Given the description of an element on the screen output the (x, y) to click on. 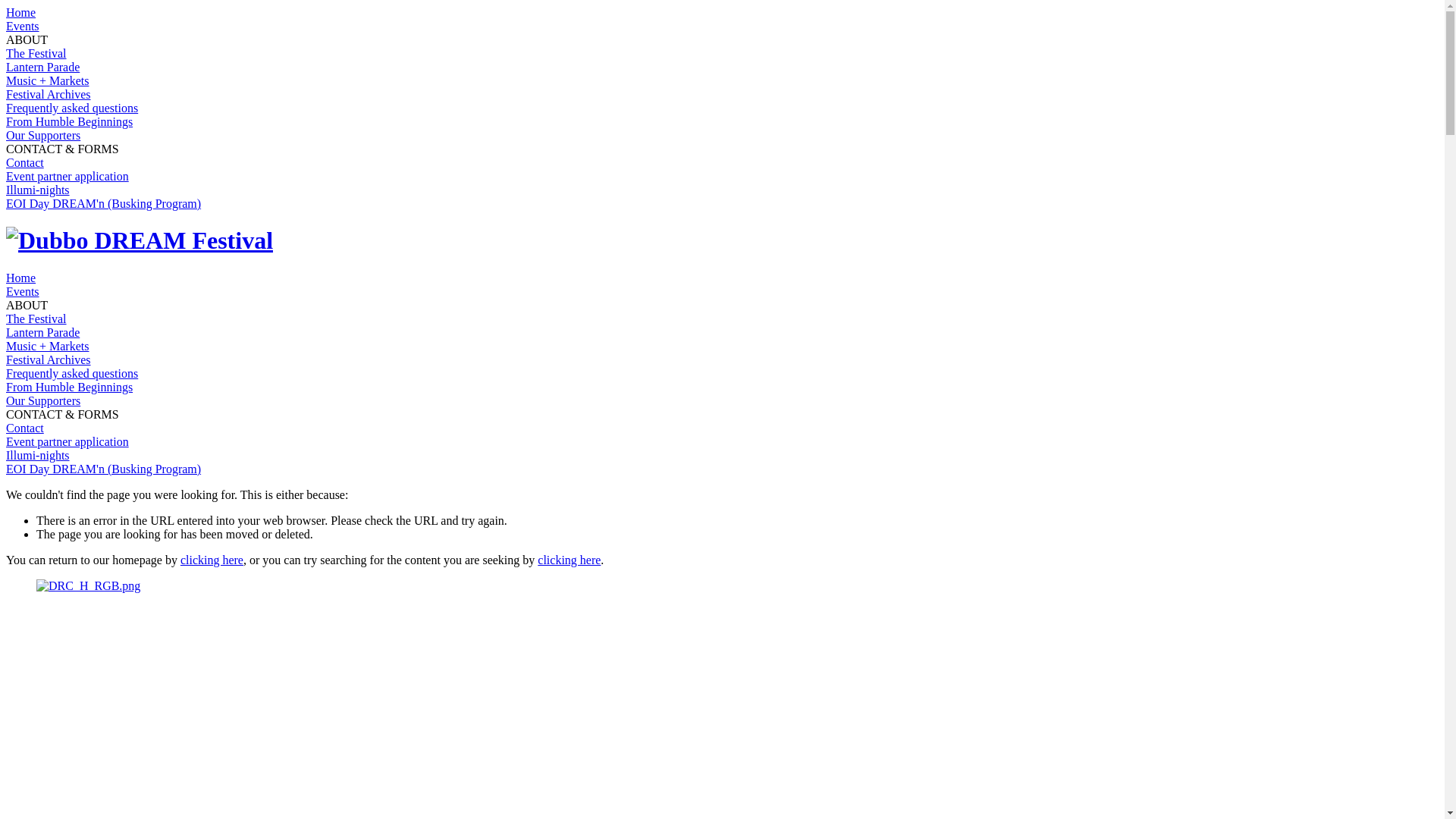
Events Element type: text (22, 291)
Frequently asked questions Element type: text (72, 373)
Our Supporters Element type: text (43, 134)
Home Element type: text (20, 12)
clicking here Element type: text (211, 559)
From Humble Beginnings Element type: text (69, 386)
clicking here Element type: text (568, 559)
From Humble Beginnings Element type: text (69, 121)
Home Element type: text (20, 277)
Lantern Parade Element type: text (42, 66)
Contact Element type: text (24, 427)
Festival Archives Element type: text (48, 93)
Events Element type: text (22, 25)
EOI Day DREAM'n (Busking Program) Element type: text (103, 468)
Our Supporters Element type: text (43, 400)
Music + Markets Element type: text (47, 80)
The Festival Element type: text (36, 53)
EOI Day DREAM'n (Busking Program) Element type: text (103, 203)
Illumi-nights Element type: text (37, 189)
Illumi-nights Element type: text (37, 454)
Contact Element type: text (24, 162)
Music + Markets Element type: text (47, 345)
Festival Archives Element type: text (48, 359)
Lantern Parade Element type: text (42, 332)
Event partner application Element type: text (67, 441)
The Festival Element type: text (36, 318)
Frequently asked questions Element type: text (72, 107)
Event partner application Element type: text (67, 175)
